Given the description of an element on the screen output the (x, y) to click on. 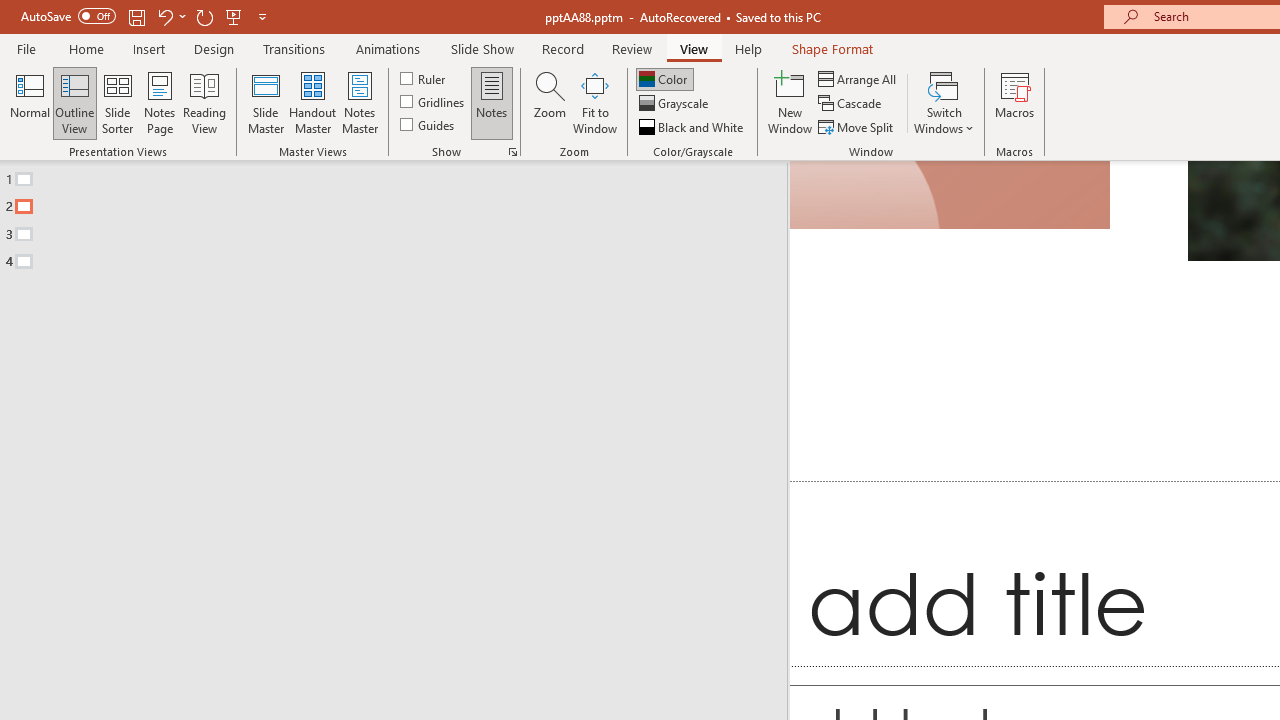
Notes (492, 102)
Arrange All (858, 78)
Notes Page (159, 102)
Grid Settings... (512, 151)
Fit to Window (594, 102)
Outline (402, 215)
Color (664, 78)
